Given the description of an element on the screen output the (x, y) to click on. 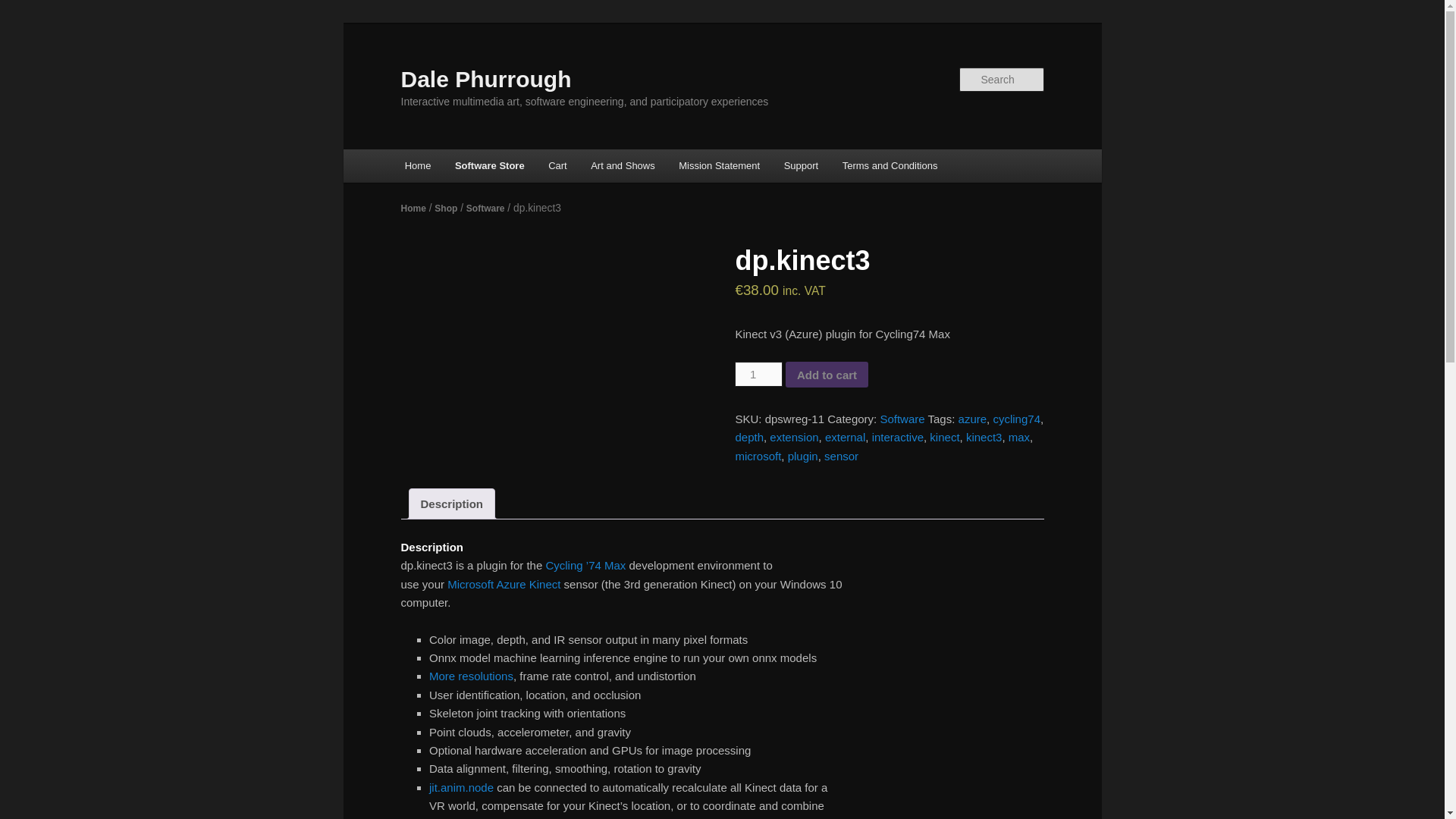
Dale Phurrough (485, 78)
azure (972, 418)
Home (417, 165)
Home (412, 208)
external (844, 436)
Terms and Conditions (889, 165)
Software (901, 418)
Software (485, 208)
extension (794, 436)
cycling74 (1016, 418)
Shop (445, 208)
Art and Shows (622, 165)
1 (758, 373)
Mission Statement (718, 165)
